Given the description of an element on the screen output the (x, y) to click on. 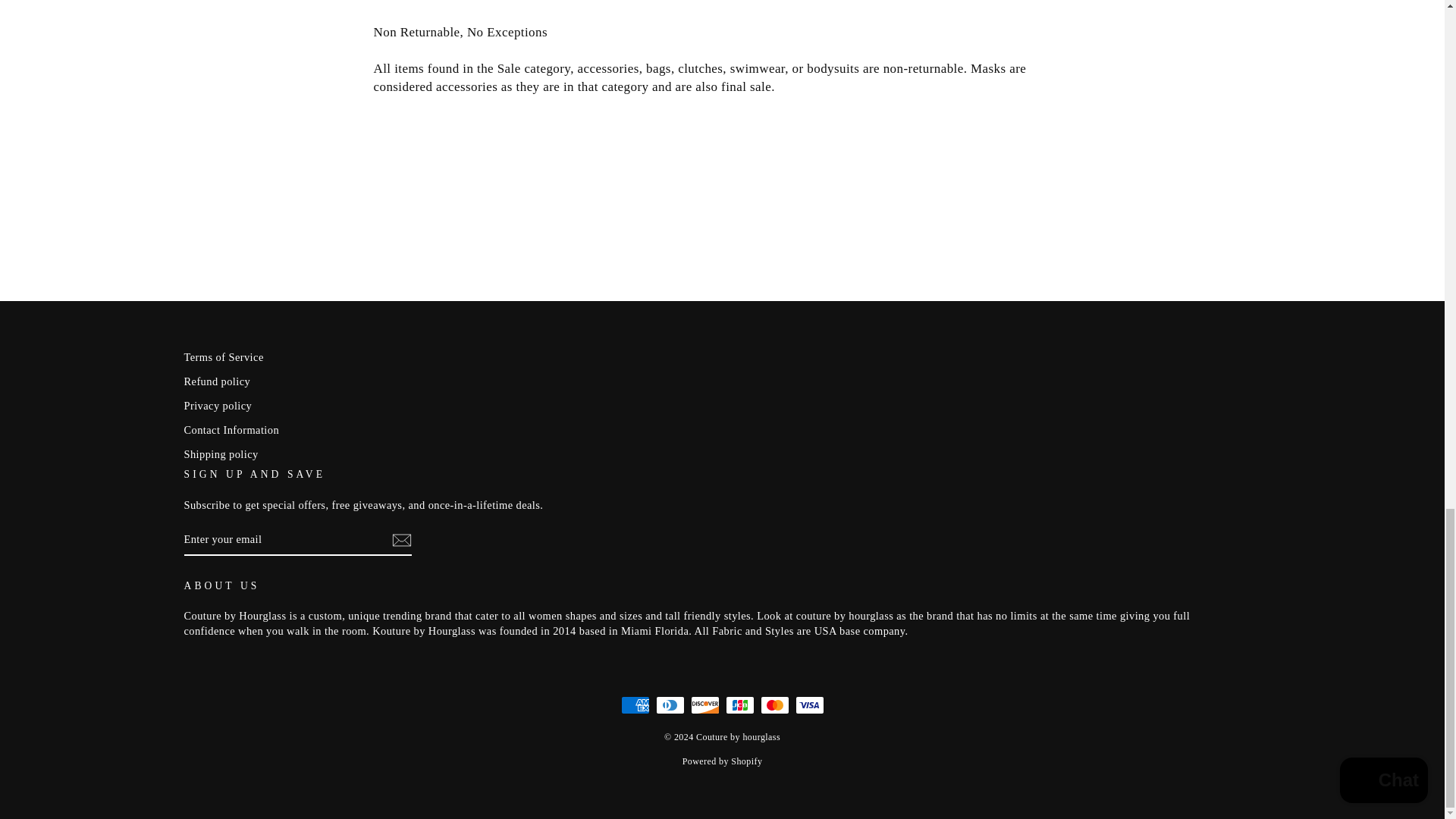
JCB (739, 705)
Visa (809, 705)
Diners Club (669, 705)
American Express (634, 705)
Mastercard (774, 705)
Discover (704, 705)
